Given the description of an element on the screen output the (x, y) to click on. 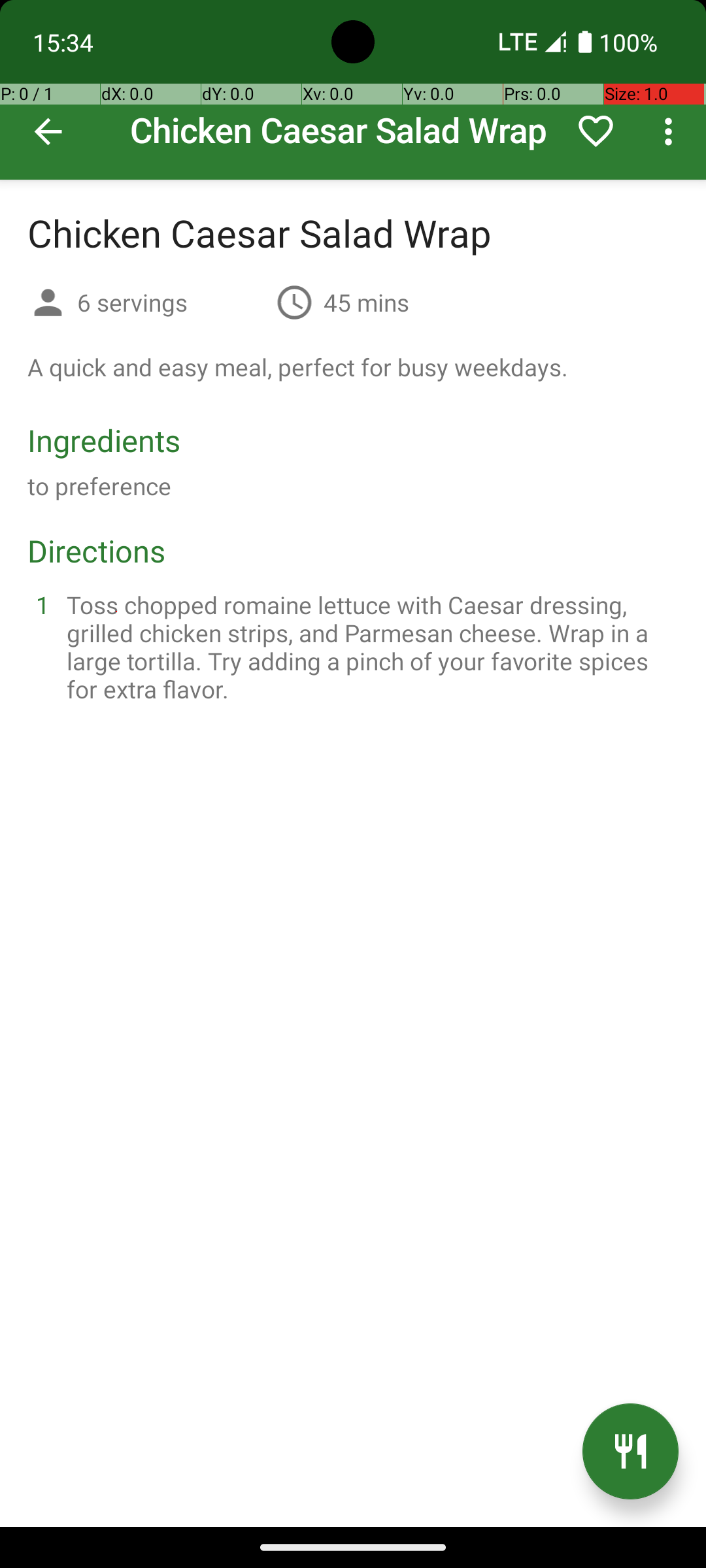
Toss chopped romaine lettuce with Caesar dressing, grilled chicken strips, and Parmesan cheese. Wrap in a large tortilla. Try adding a pinch of your favorite spices for extra flavor. Element type: android.widget.TextView (368, 646)
